Given the description of an element on the screen output the (x, y) to click on. 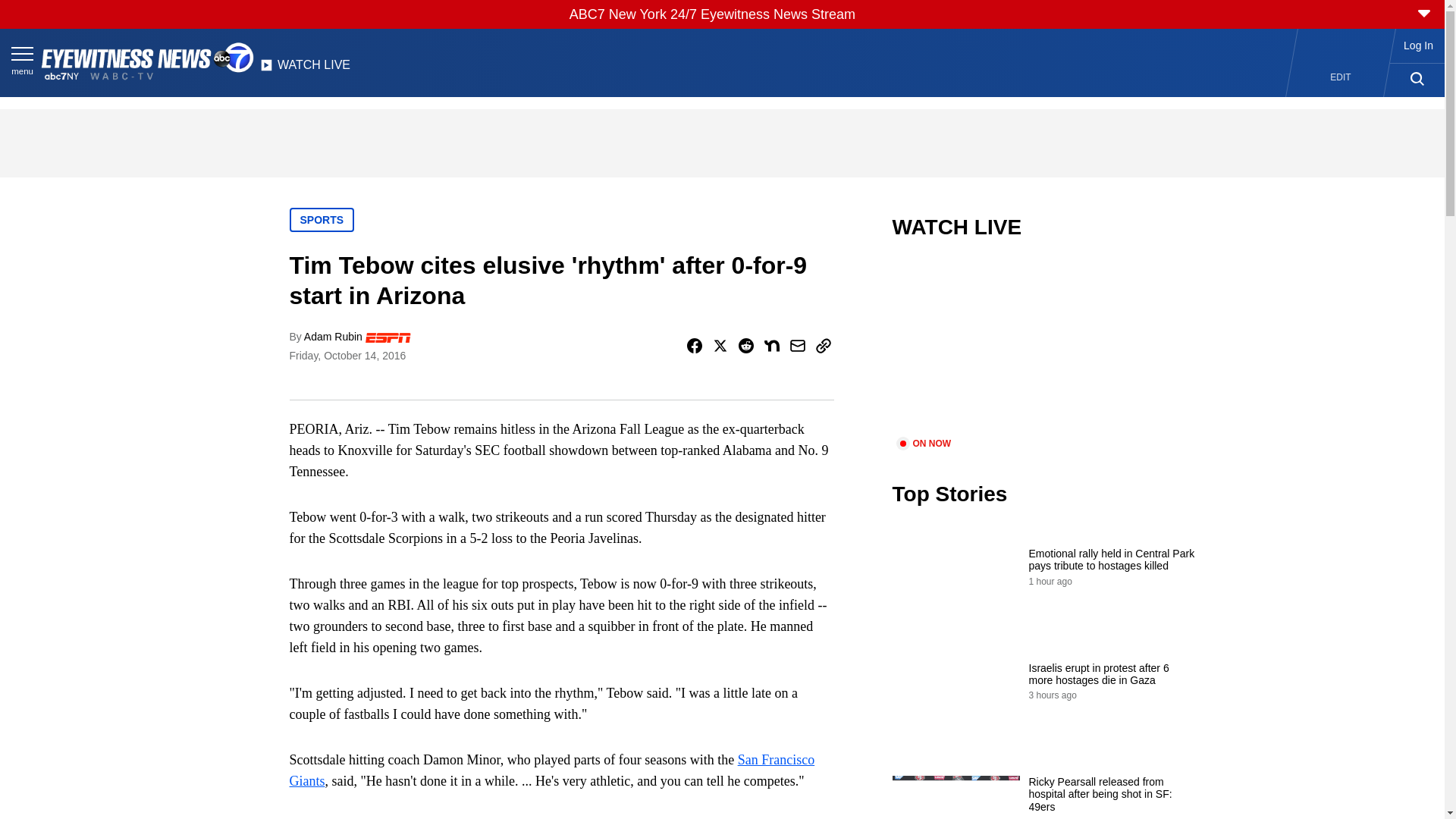
WATCH LIVE (305, 69)
video.title (1043, 347)
EDIT (1340, 77)
